Given the description of an element on the screen output the (x, y) to click on. 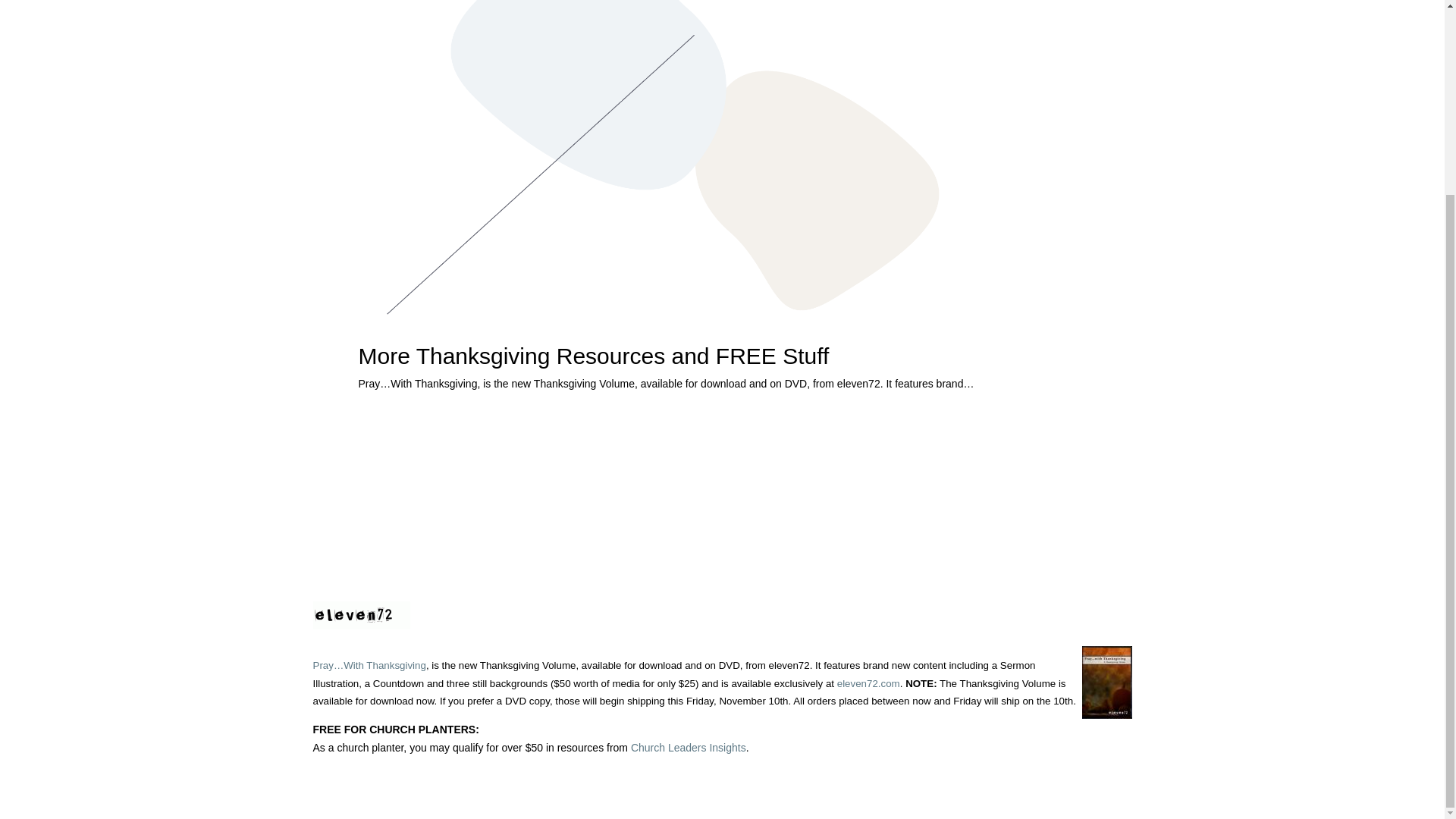
eleven72.com (868, 683)
Church Leaders Insights (687, 747)
